Given the description of an element on the screen output the (x, y) to click on. 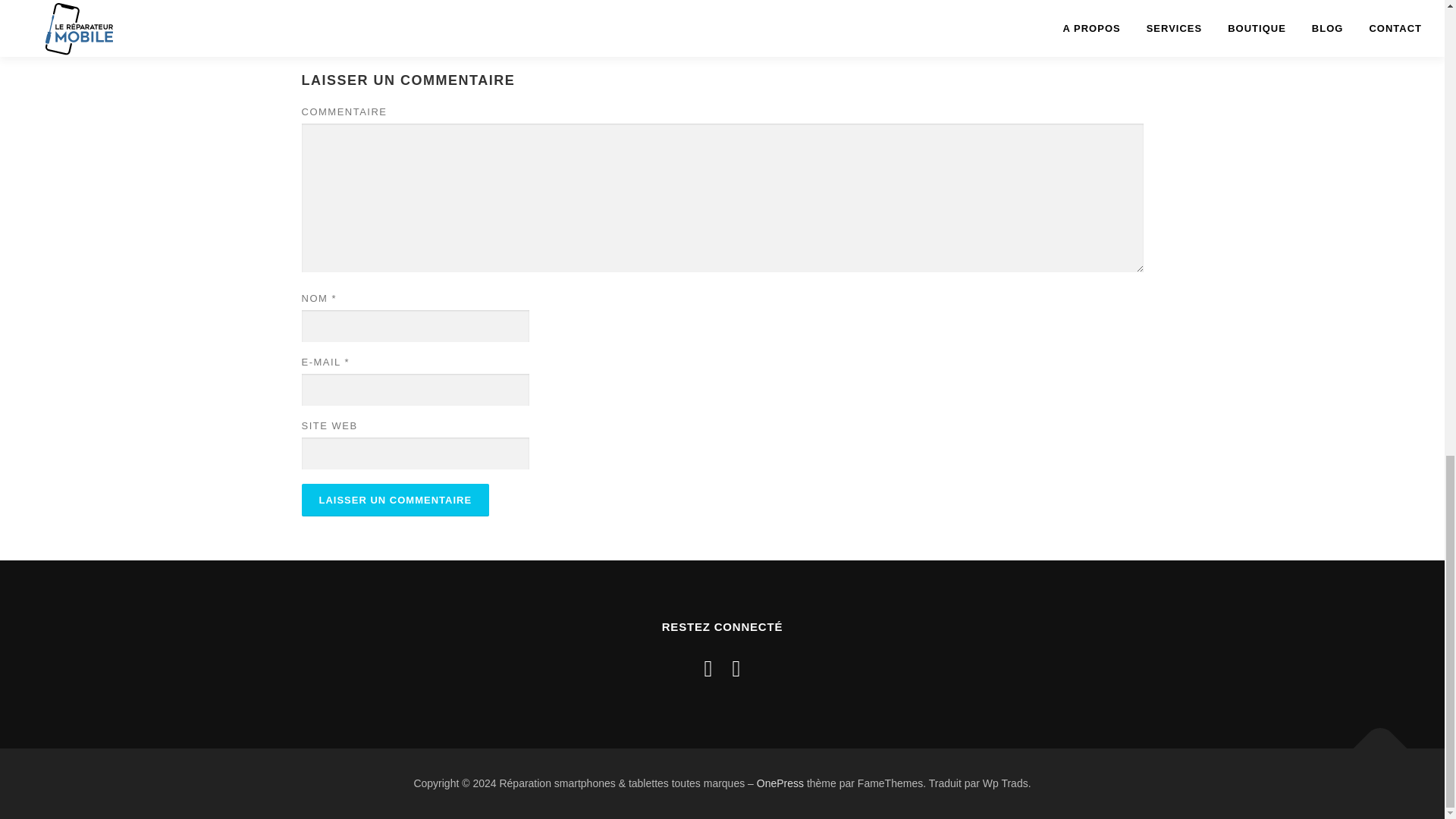
Laisser un commentaire (395, 500)
OnePress (780, 783)
ASHLEY MADISON REVIEWS (454, 4)
Retour en haut (1372, 740)
Laisser un commentaire (395, 500)
